Given the description of an element on the screen output the (x, y) to click on. 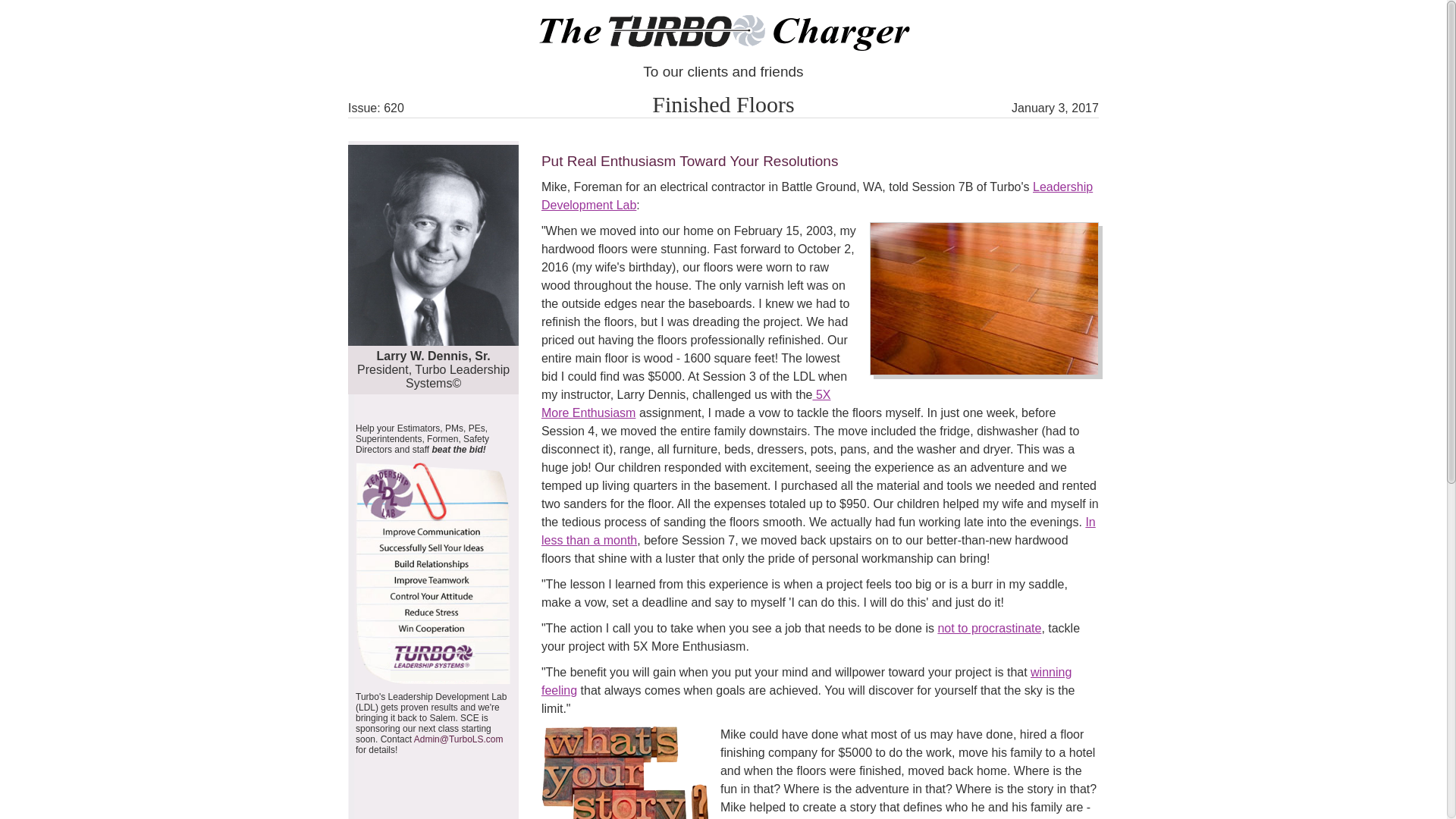
winning feeling (806, 680)
In less than a month (818, 531)
5X More Enthusiasm (686, 403)
not to procrastinate (989, 627)
Leadership Development Lab (817, 195)
